Given the description of an element on the screen output the (x, y) to click on. 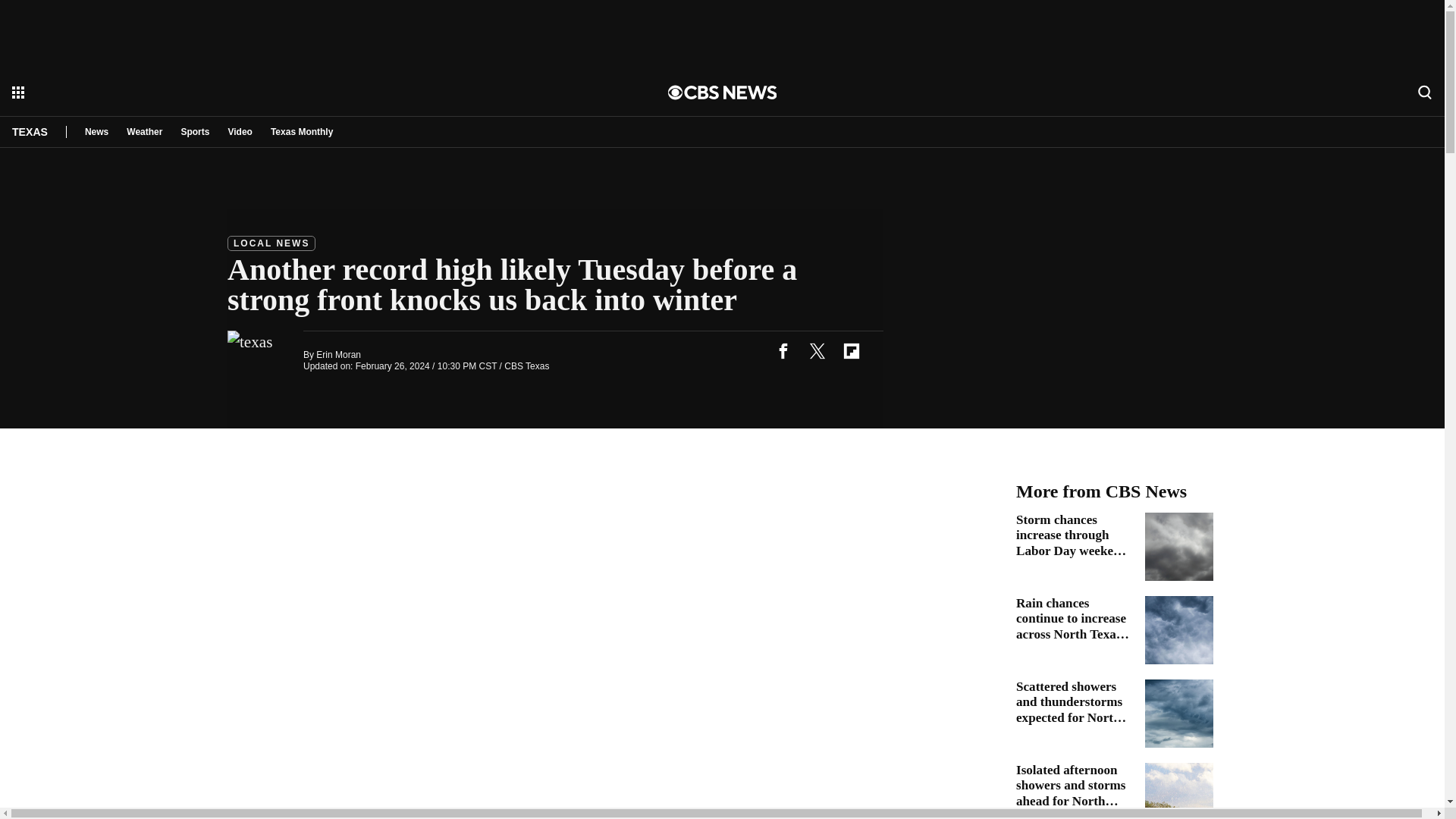
flipboard (850, 350)
facebook (782, 350)
twitter (816, 350)
